Given the description of an element on the screen output the (x, y) to click on. 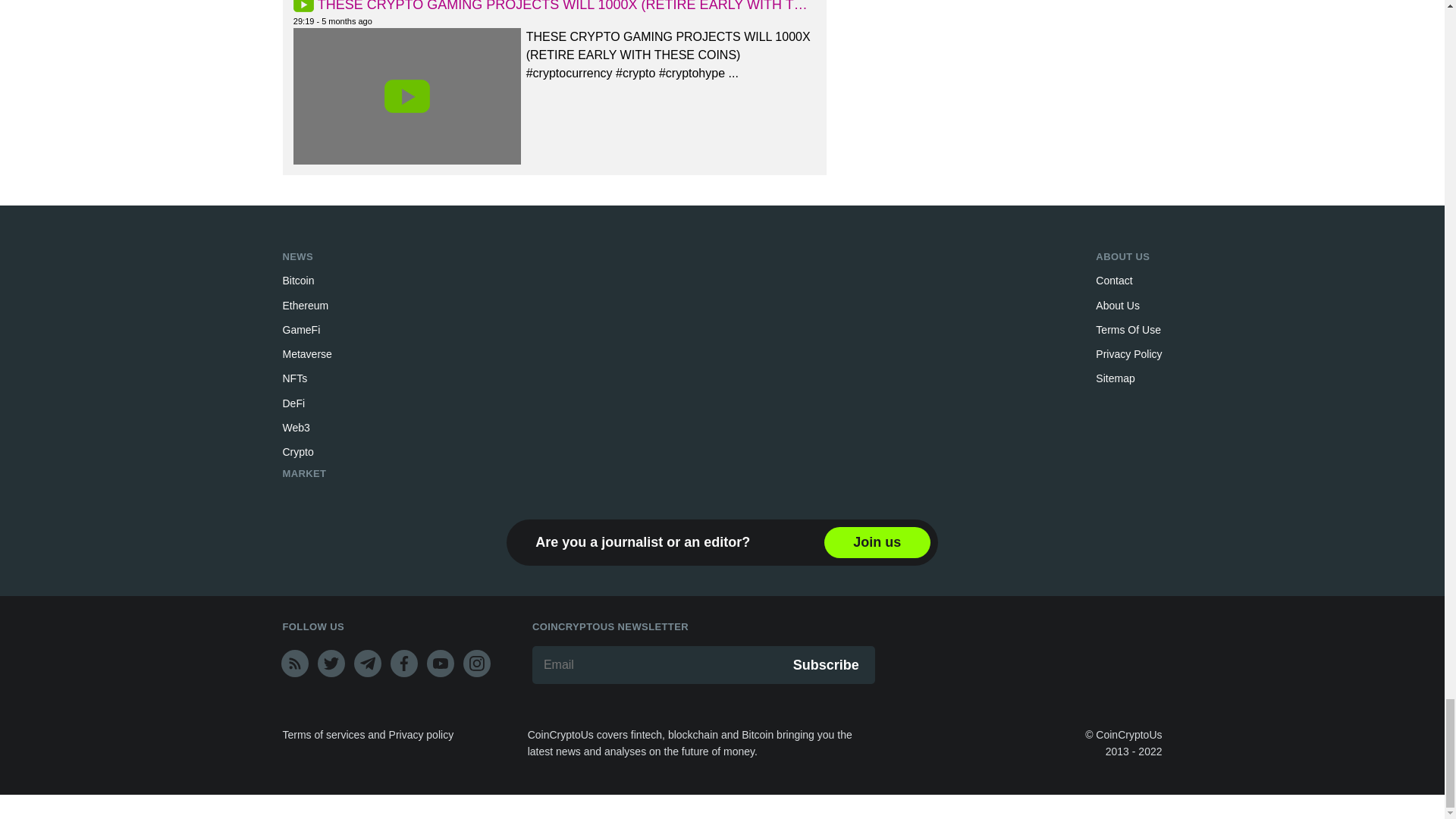
Telegram (366, 663)
Instagram (476, 663)
Rss Feed (294, 663)
Twitter (330, 663)
Facebook (403, 663)
Youtube (439, 663)
